Given the description of an element on the screen output the (x, y) to click on. 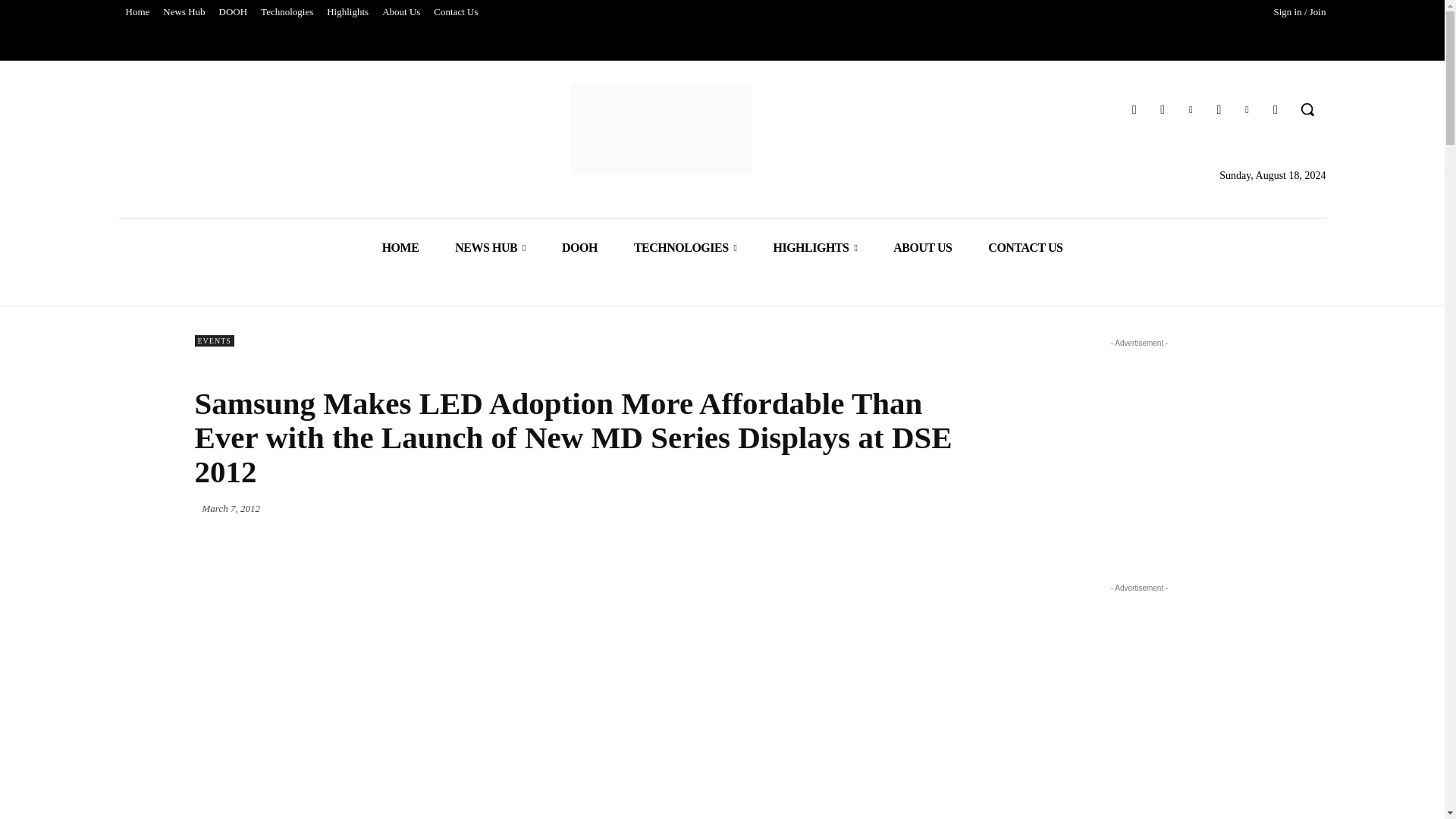
Facebook (1163, 109)
Highlights (347, 12)
DOOH (233, 12)
Google News (1275, 109)
Instagram (1218, 109)
Technologies (286, 12)
News Hub (183, 12)
Twitter (1134, 109)
Pinterest (1190, 109)
Home (136, 12)
